Given the description of an element on the screen output the (x, y) to click on. 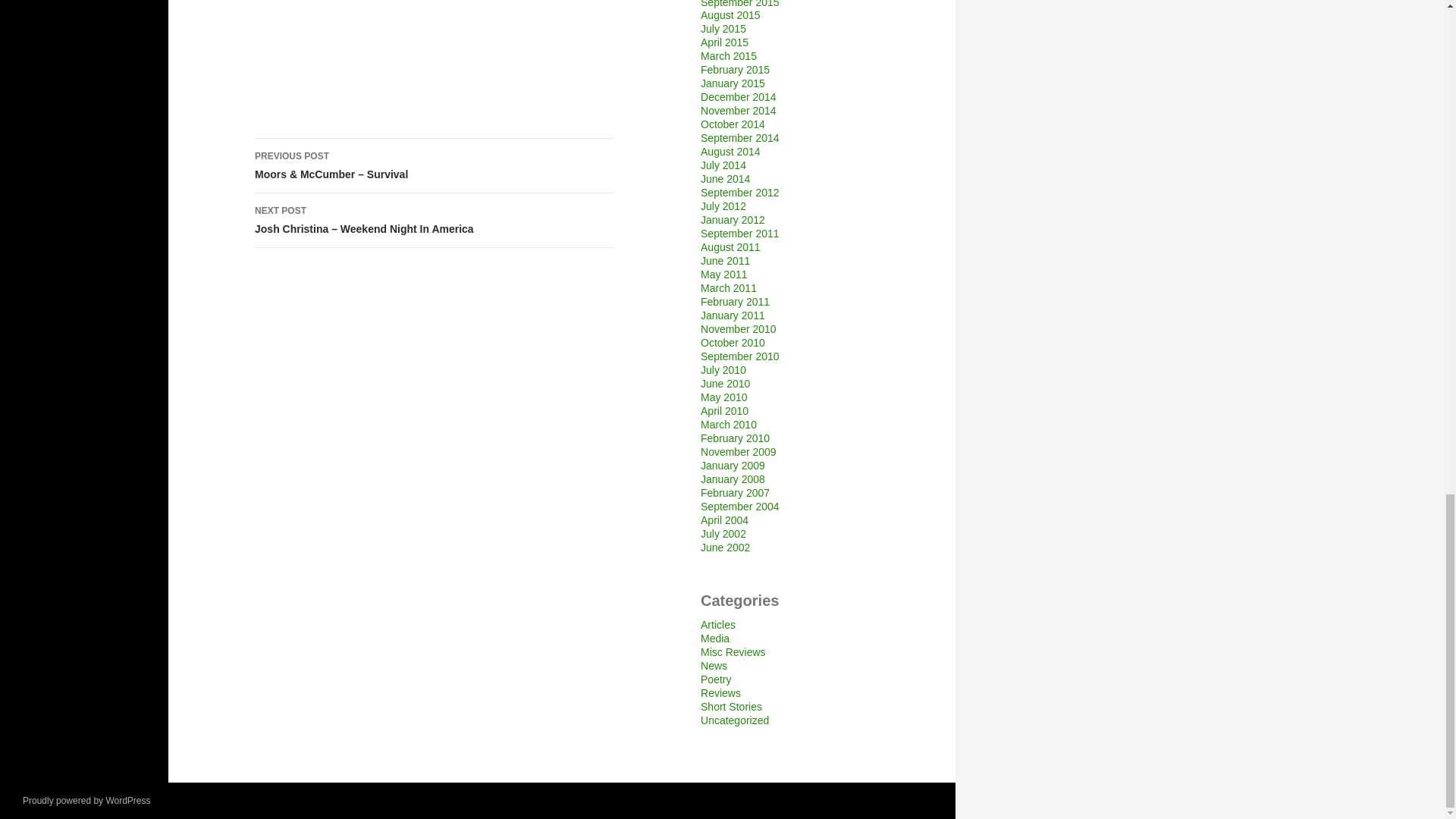
Spotify Embed: You Stole My Heart Away (434, 38)
